Given the description of an element on the screen output the (x, y) to click on. 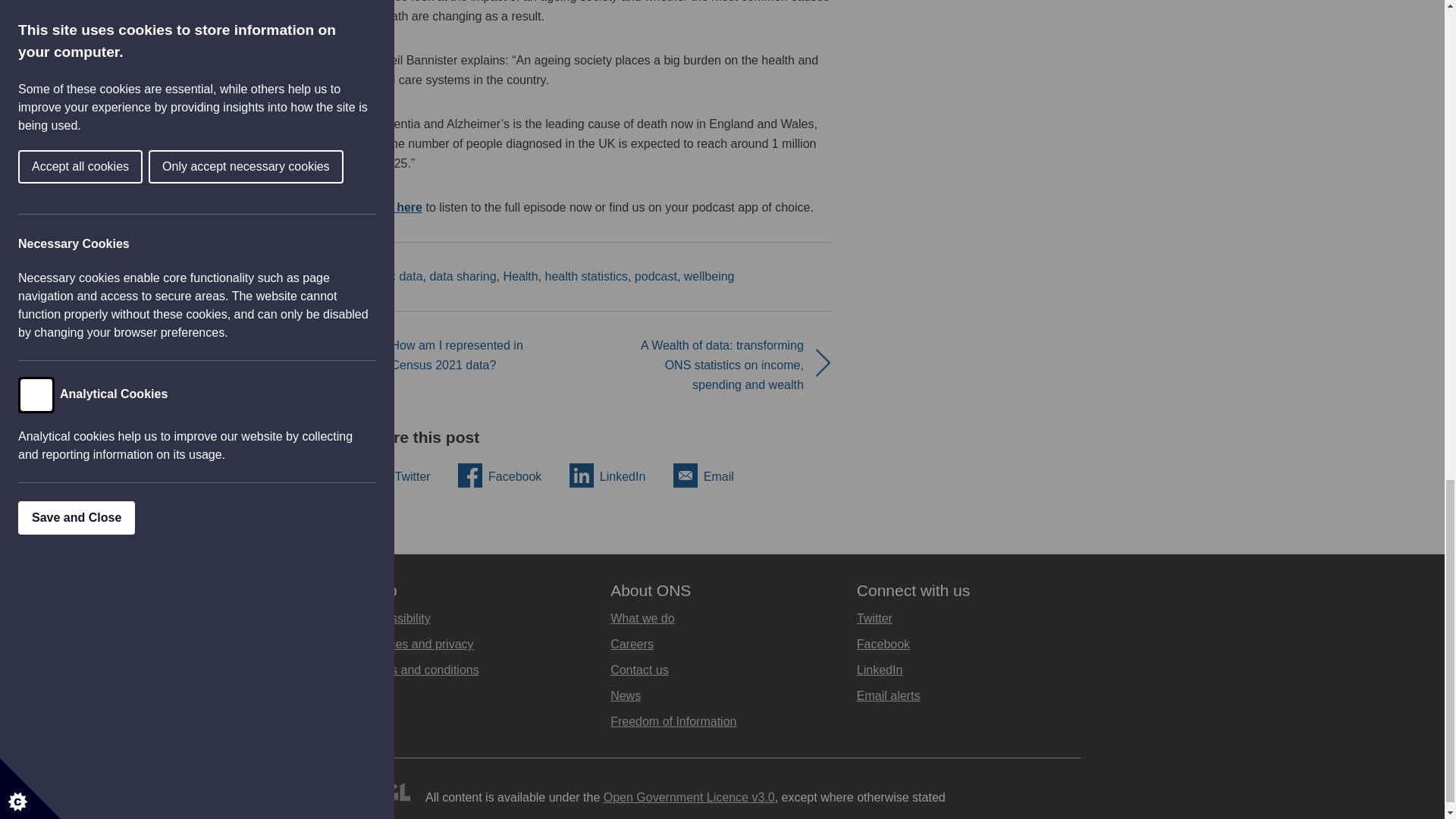
data sharing (462, 276)
Cookies and privacy (418, 644)
Click here (393, 206)
How am I represented in Census 2021 data? (456, 355)
Health (519, 276)
wellbeing (709, 276)
health statistics (585, 276)
data (410, 276)
Accessibility (396, 617)
